Given the description of an element on the screen output the (x, y) to click on. 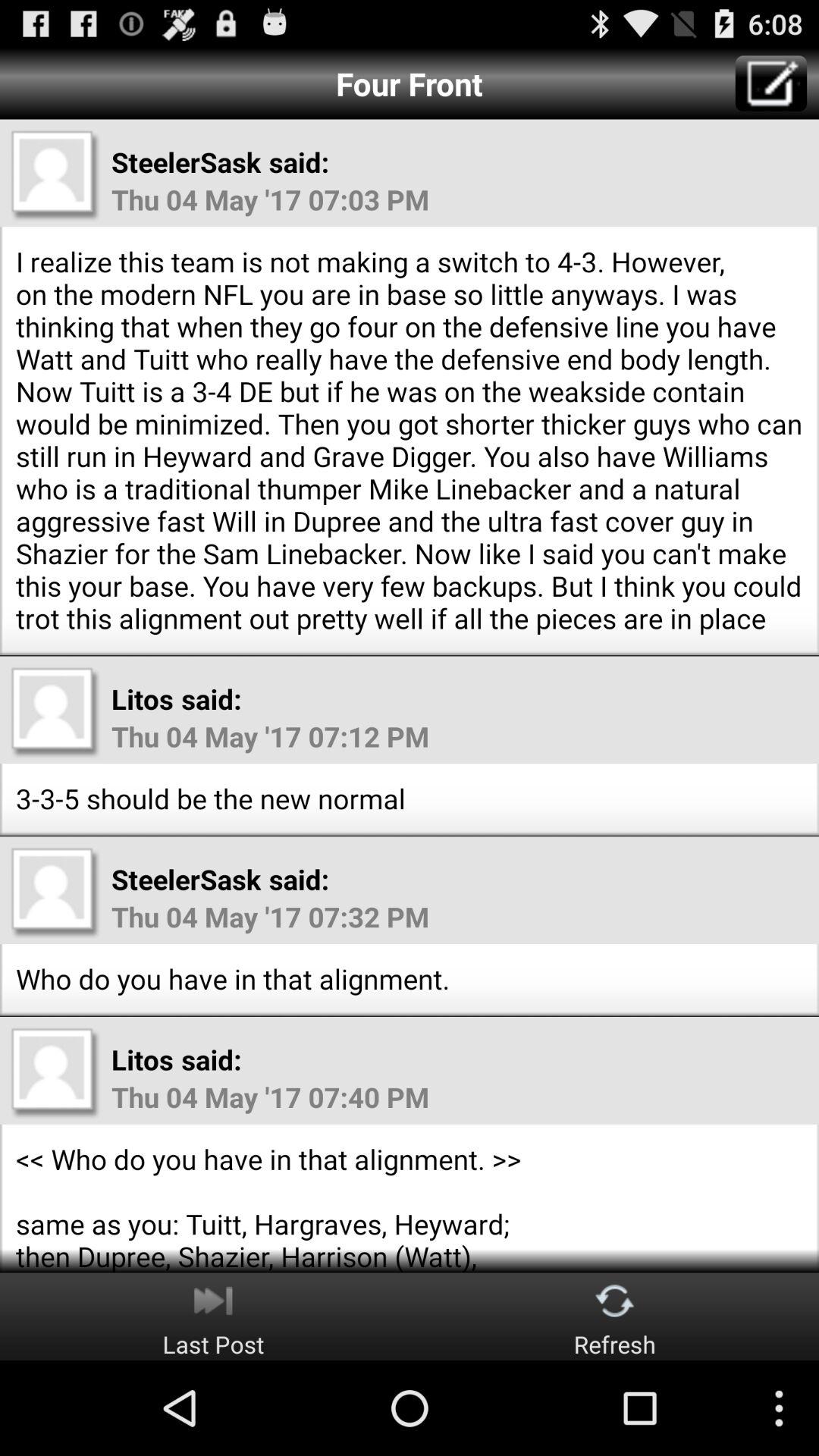
write post (771, 83)
